Given the description of an element on the screen output the (x, y) to click on. 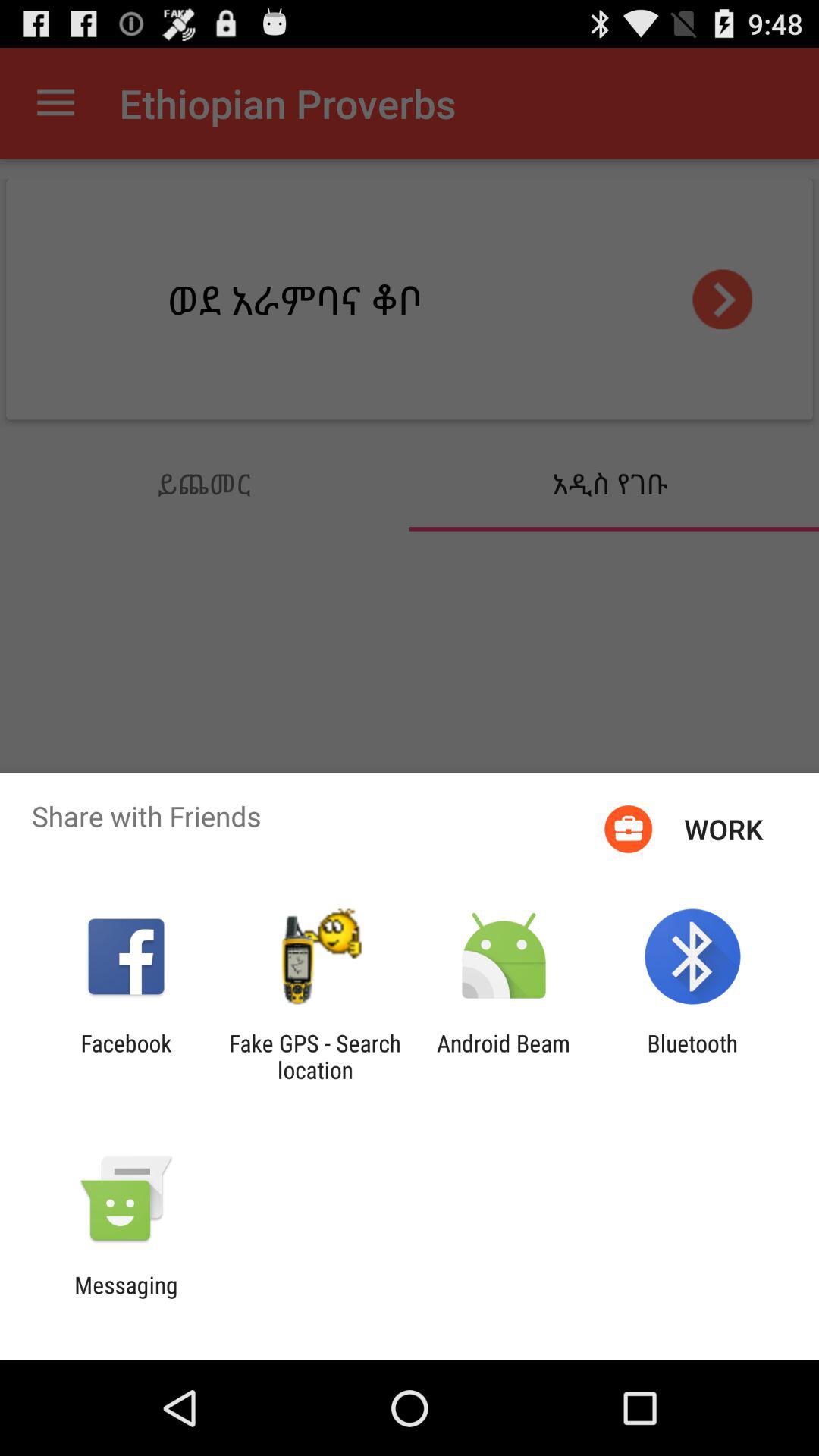
turn on the item next to the fake gps search icon (125, 1056)
